Given the description of an element on the screen output the (x, y) to click on. 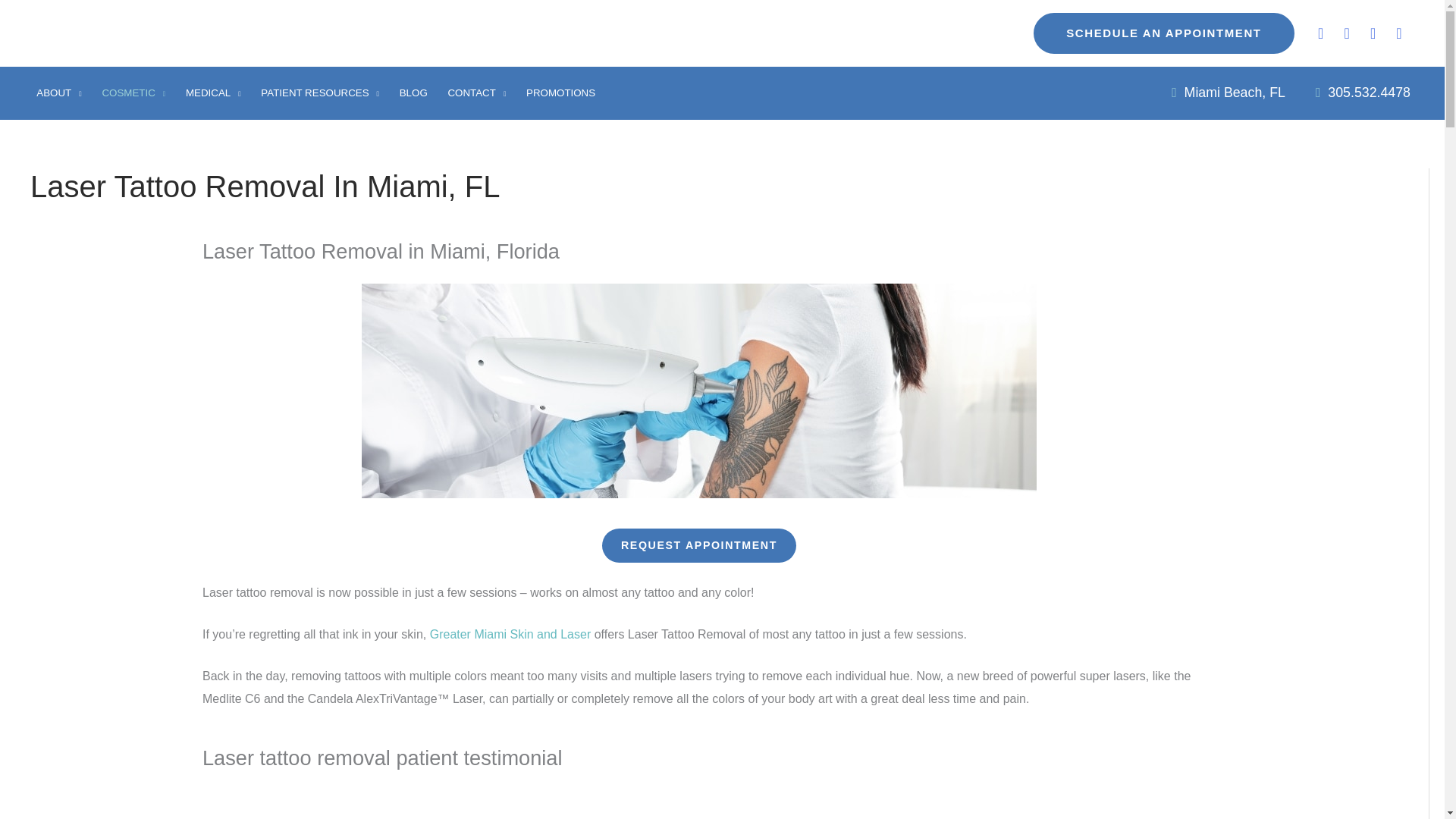
ABOUT (58, 92)
Click Here (699, 544)
SCHEDULE AN APPOINTMENT (1163, 33)
COSMETIC (133, 92)
